Given the description of an element on the screen output the (x, y) to click on. 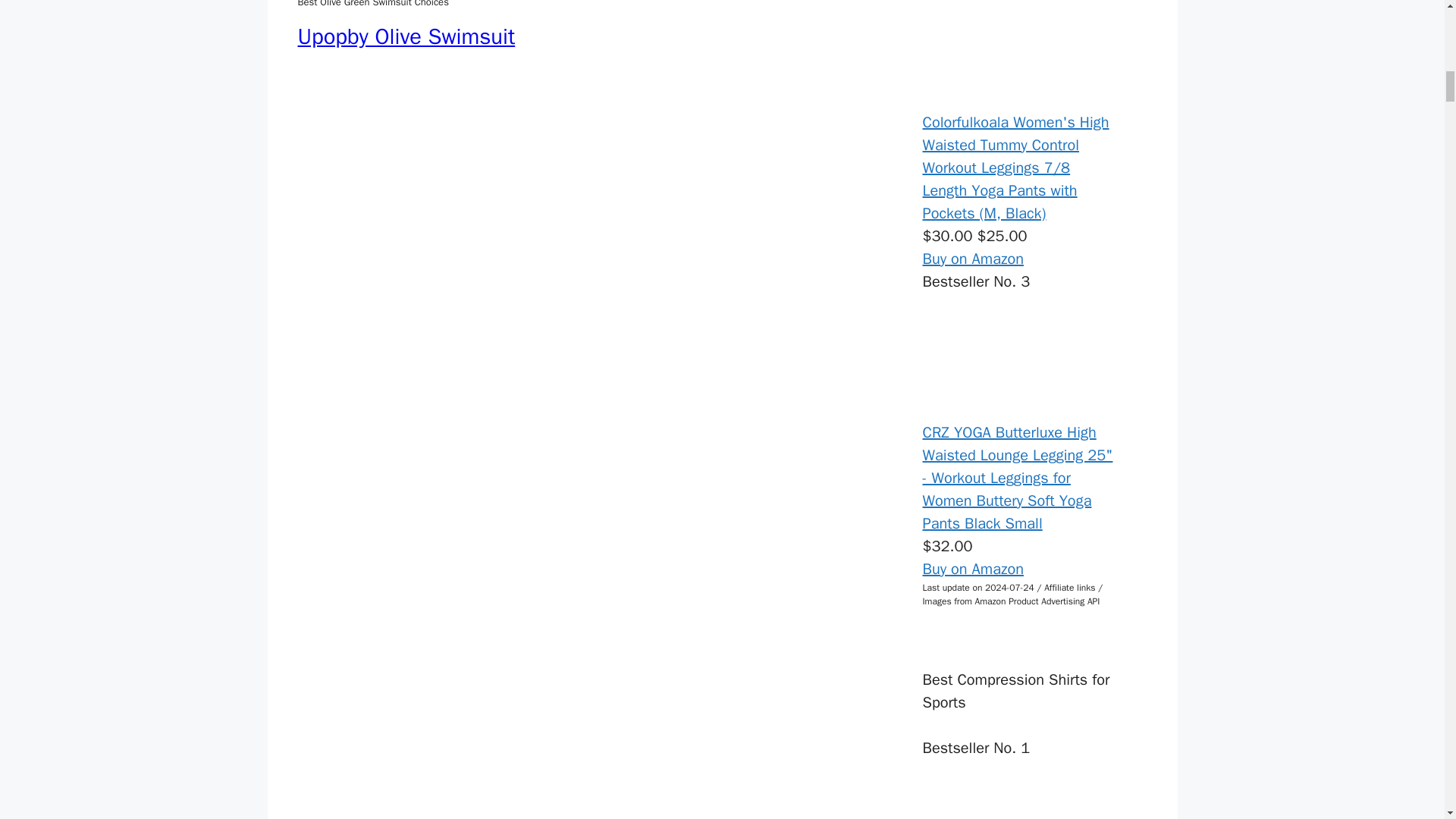
Upopby Olive Swimsuit (406, 36)
